Given the description of an element on the screen output the (x, y) to click on. 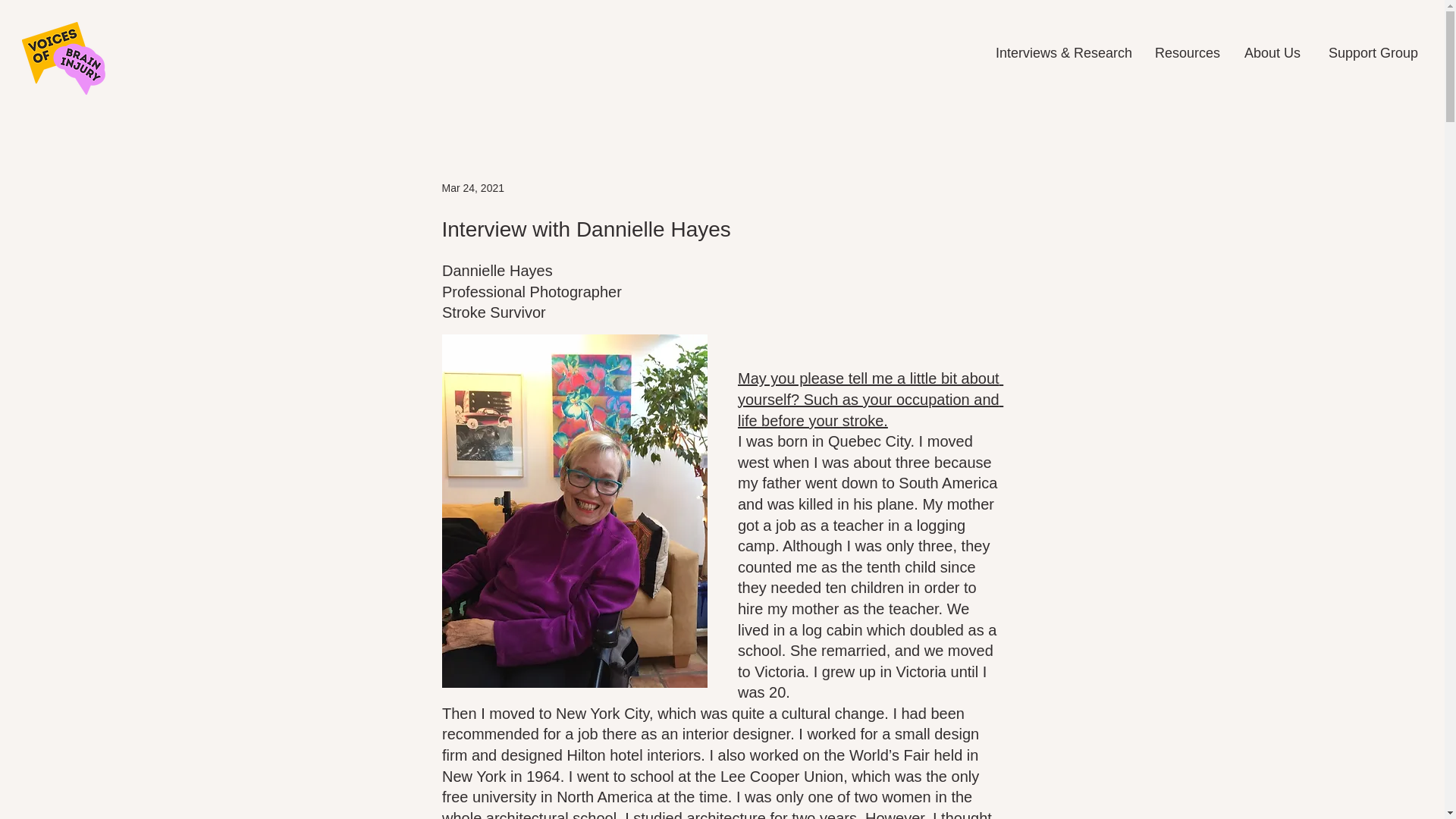
Mar 24, 2021 (472, 187)
Resources (1186, 52)
Support Group (1370, 52)
About Us (1270, 52)
